Given the description of an element on the screen output the (x, y) to click on. 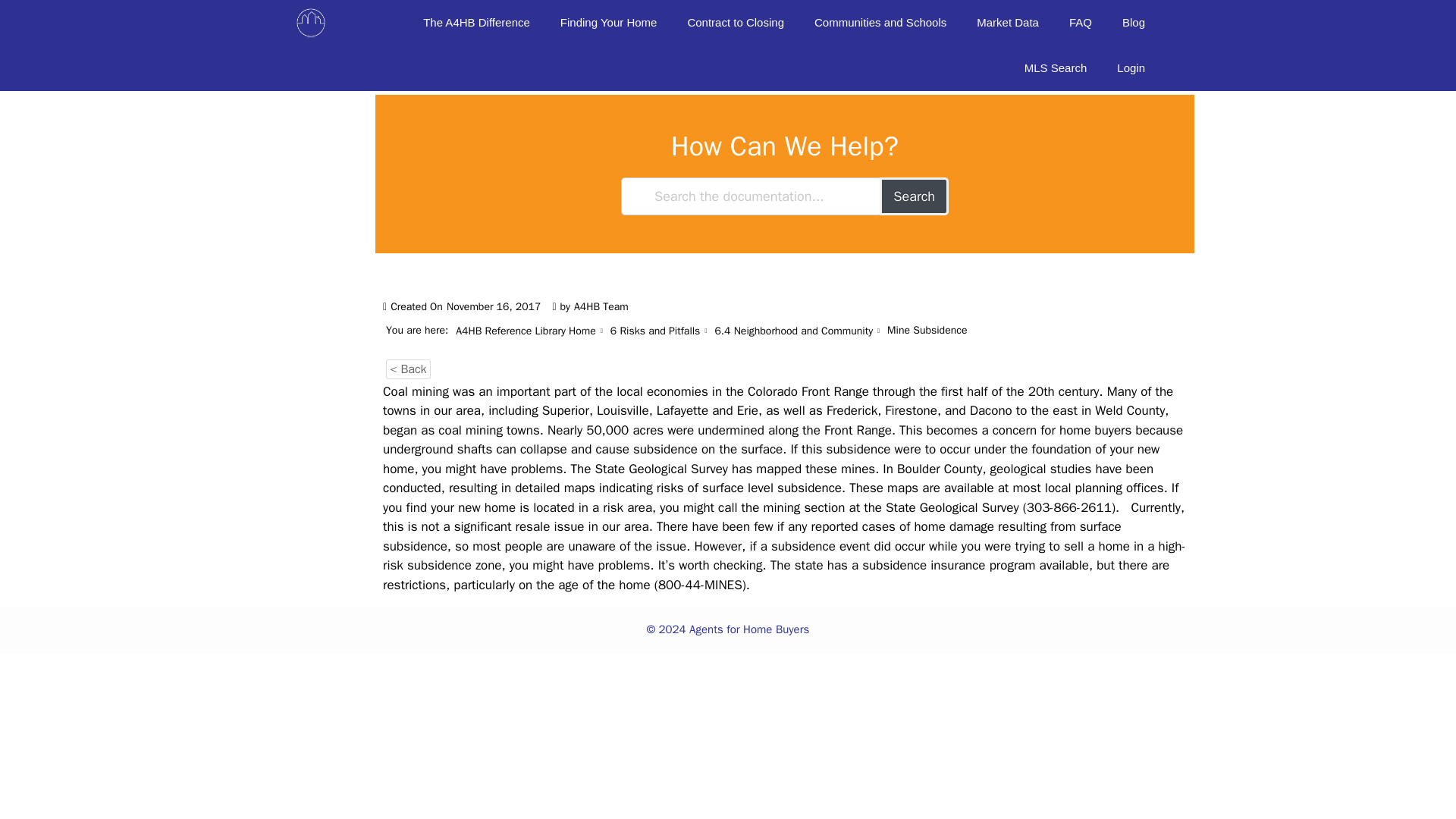
Contract to Closing (735, 22)
A4HB Reference Library Home (525, 330)
Finding Your Home (608, 22)
The Boulder Valley Home Buyer (1133, 22)
Communities and Schools (879, 22)
Agents for Home Buyers (310, 22)
The A4HB Difference (475, 22)
FAQ (1080, 22)
6.4 Neighborhood and Community (793, 330)
Blog (1133, 22)
6 Risks and Pitfalls (655, 330)
First you have to find a house you want to buy (608, 22)
MLS Search (1055, 67)
Search (914, 196)
